Given the description of an element on the screen output the (x, y) to click on. 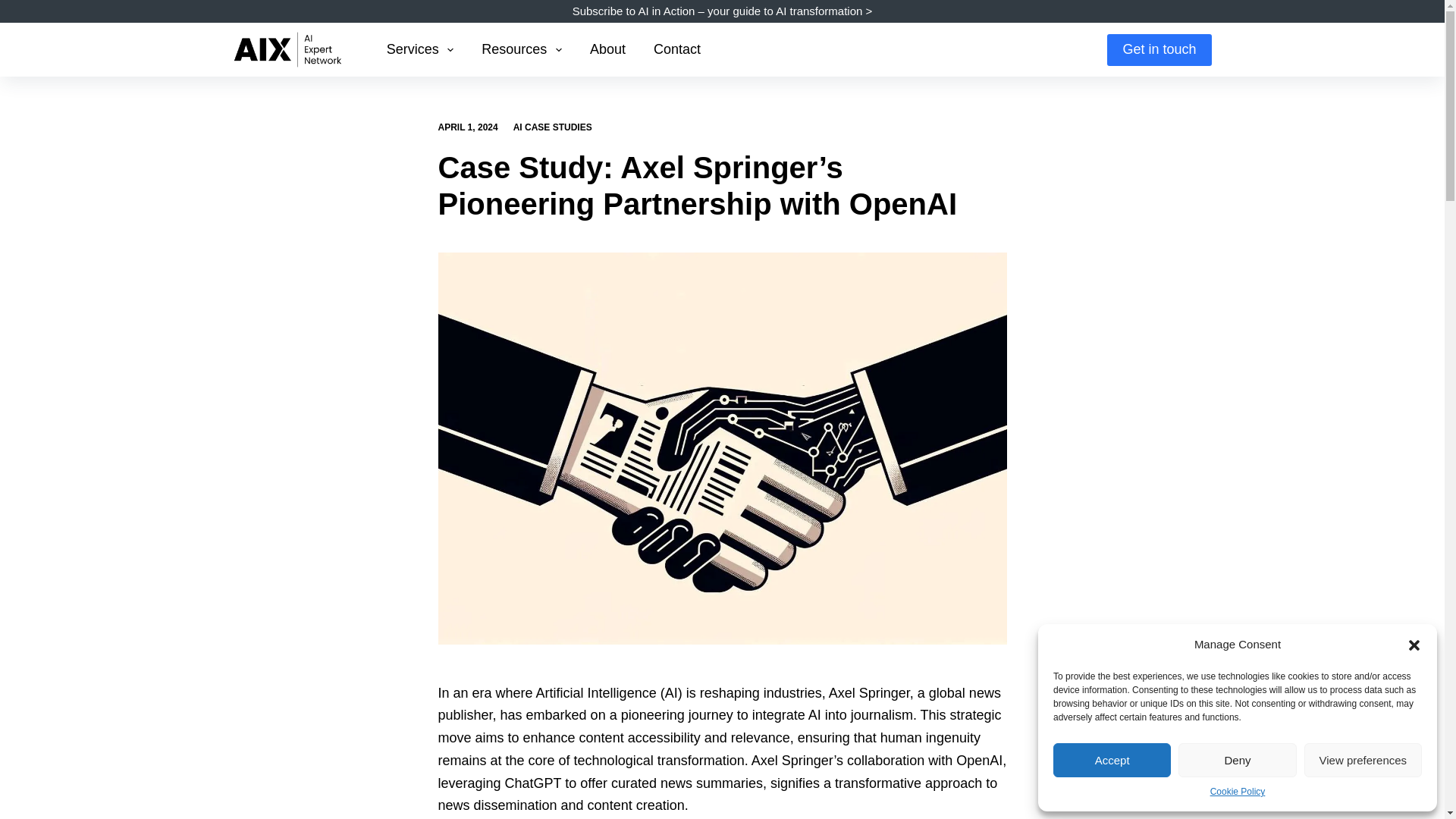
Skip to content (15, 7)
Services (419, 49)
Cookie Policy (1237, 792)
About (607, 49)
View preferences (1363, 759)
Deny (1236, 759)
Resources (521, 49)
Accept (1111, 759)
